Given the description of an element on the screen output the (x, y) to click on. 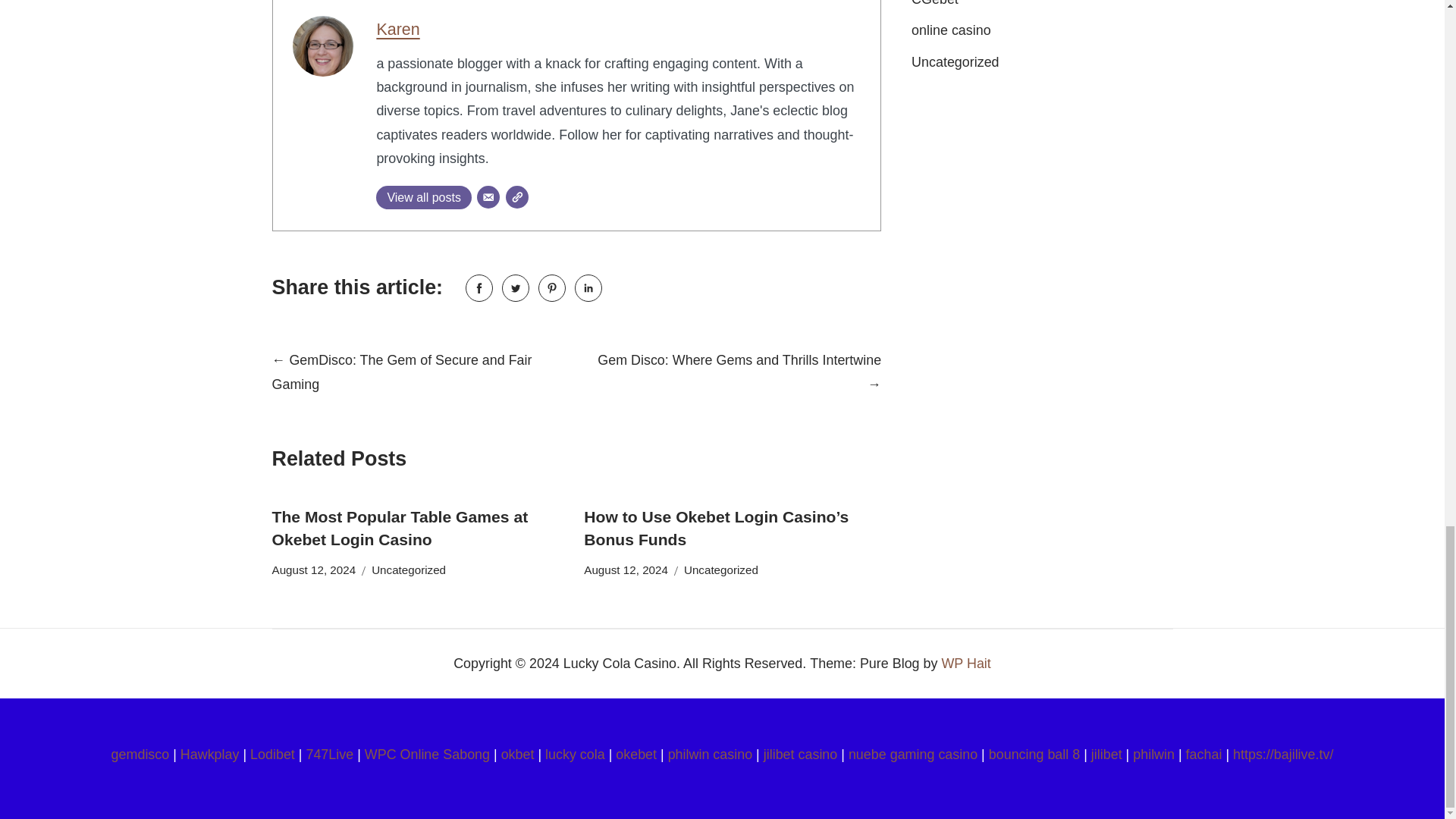
Karen (397, 29)
The Most Popular Table Games at Okebet Login Casino (398, 527)
August 12, 2024 (625, 570)
Uncategorized (408, 570)
Uncategorized (721, 570)
View all posts (423, 197)
August 12, 2024 (312, 570)
View all posts (423, 197)
Karen (397, 29)
